Given the description of an element on the screen output the (x, y) to click on. 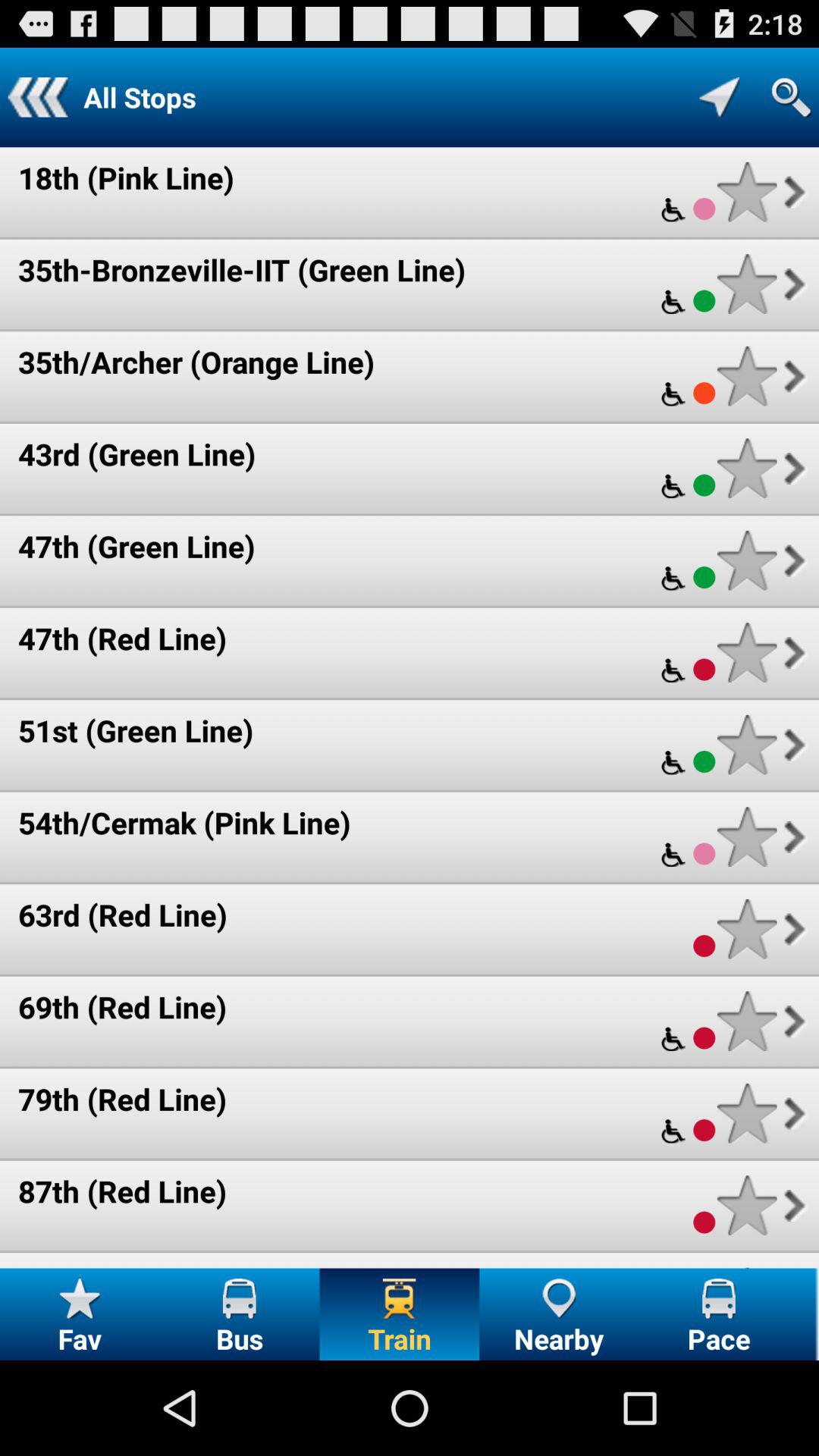
favorite 87th (746, 1205)
